Given the description of an element on the screen output the (x, y) to click on. 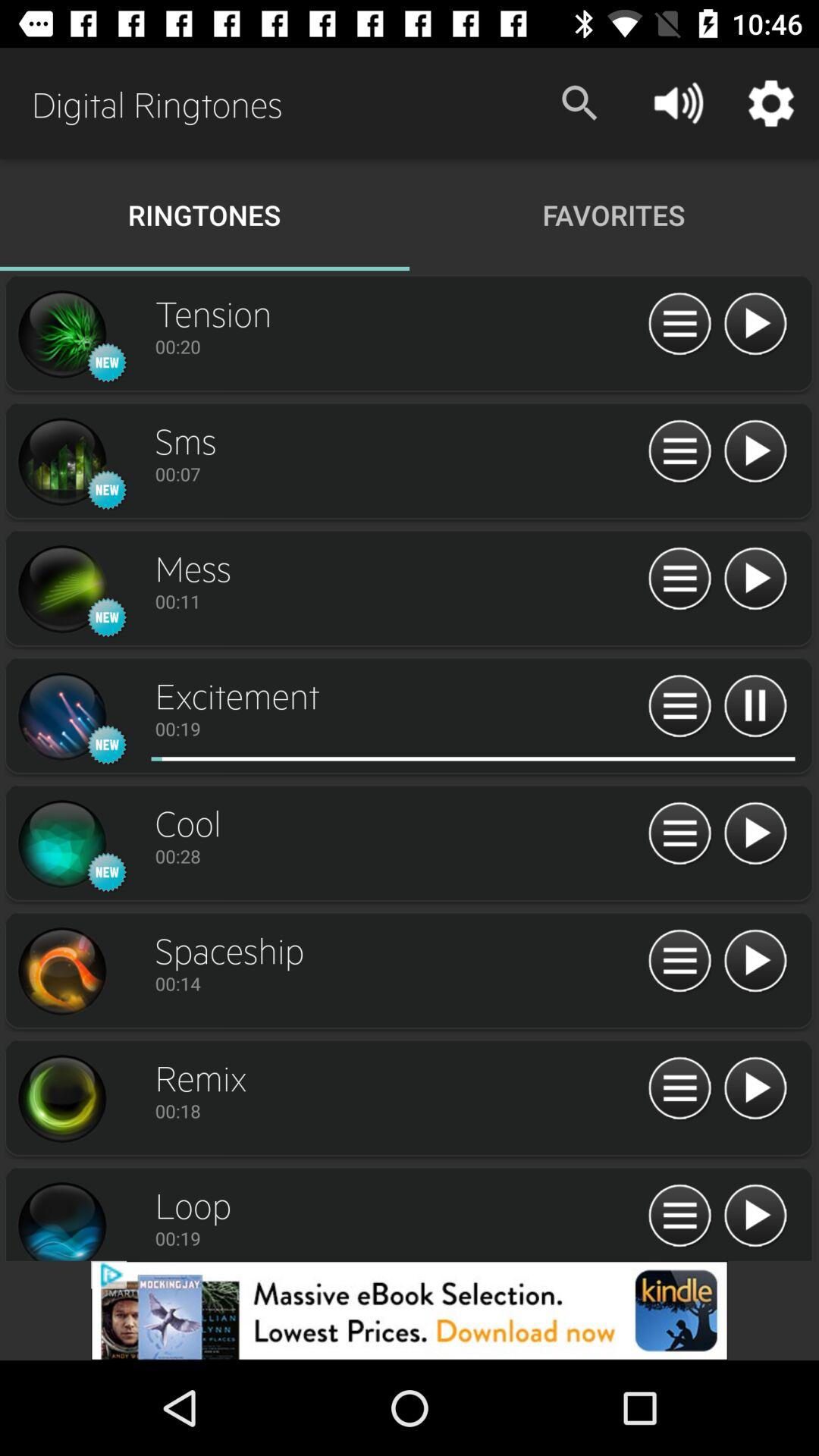
profile page (61, 971)
